Given the description of an element on the screen output the (x, y) to click on. 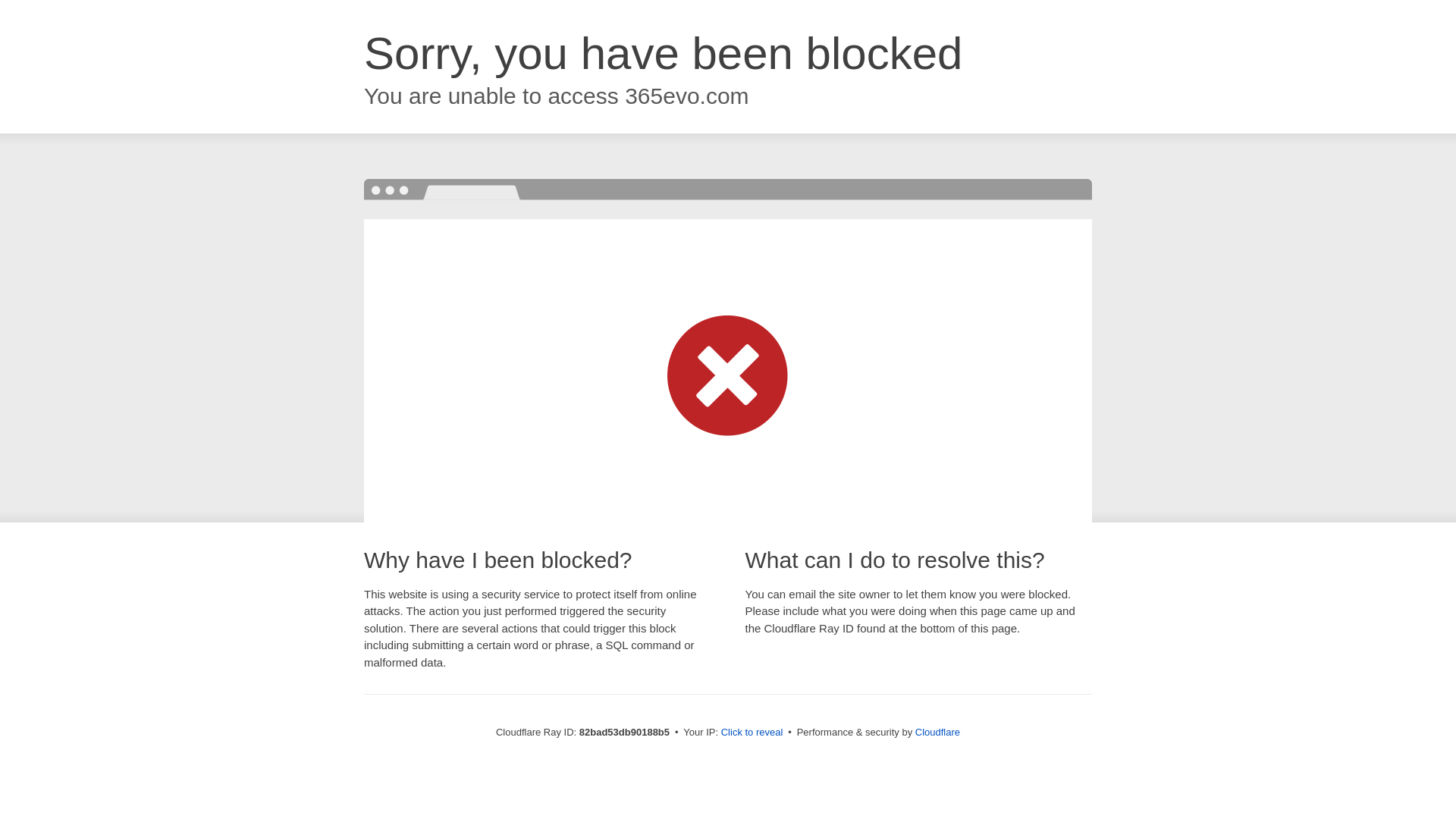
Cloudflare Element type: text (937, 731)
Click to reveal Element type: text (752, 732)
